Given the description of an element on the screen output the (x, y) to click on. 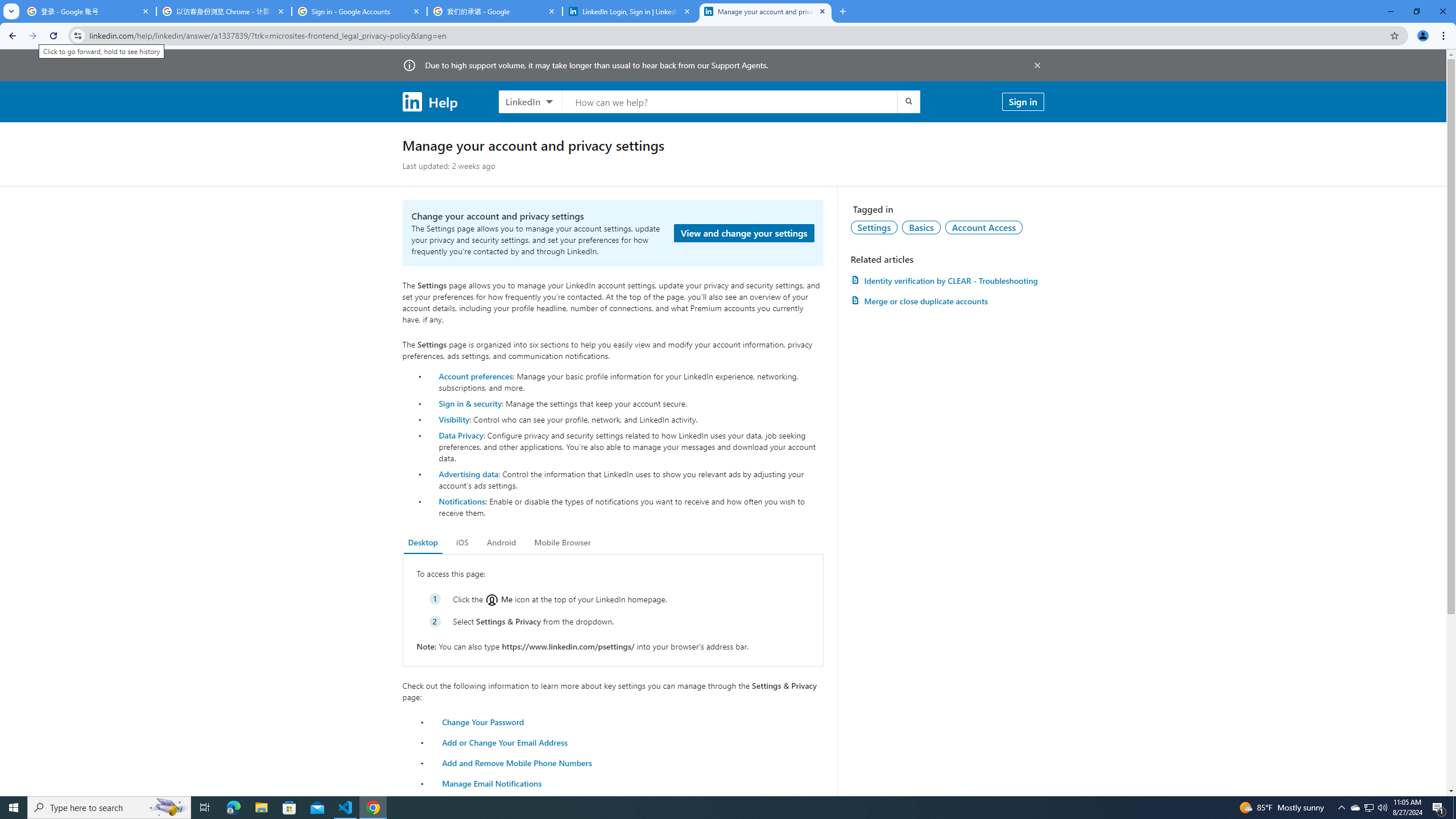
Notifications (461, 500)
Account preferences (475, 375)
Add and Remove Mobile Phone Numbers (517, 762)
Account Access (983, 227)
Help (429, 101)
Android (501, 542)
